Given the description of an element on the screen output the (x, y) to click on. 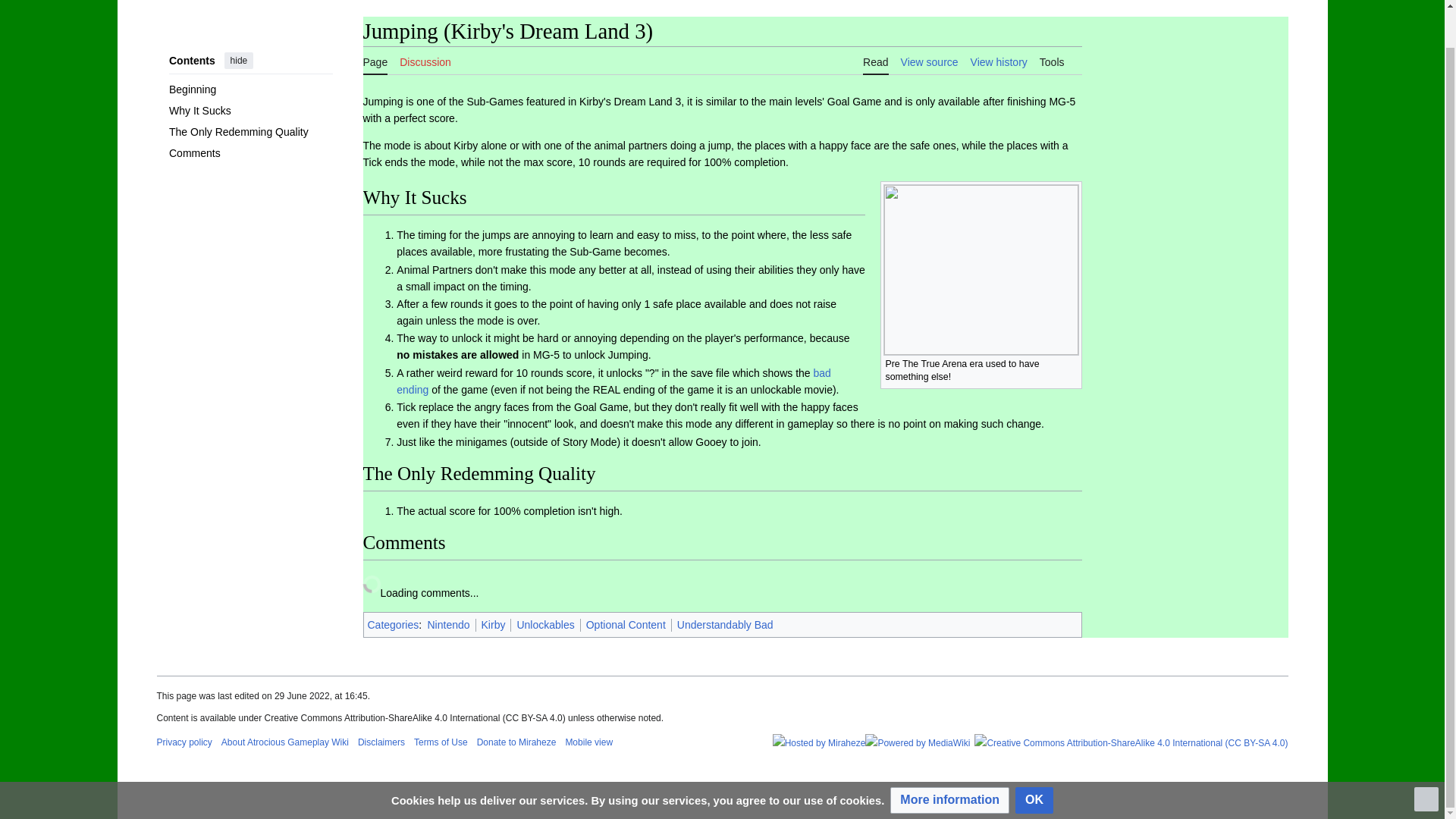
View source (929, 60)
View history (999, 60)
Comments (249, 152)
Why It Sucks (249, 110)
Page (374, 60)
The Only Redemming Quality (249, 131)
Read (875, 60)
Beginning (249, 88)
hide (238, 60)
Discussion (424, 60)
